Given the description of an element on the screen output the (x, y) to click on. 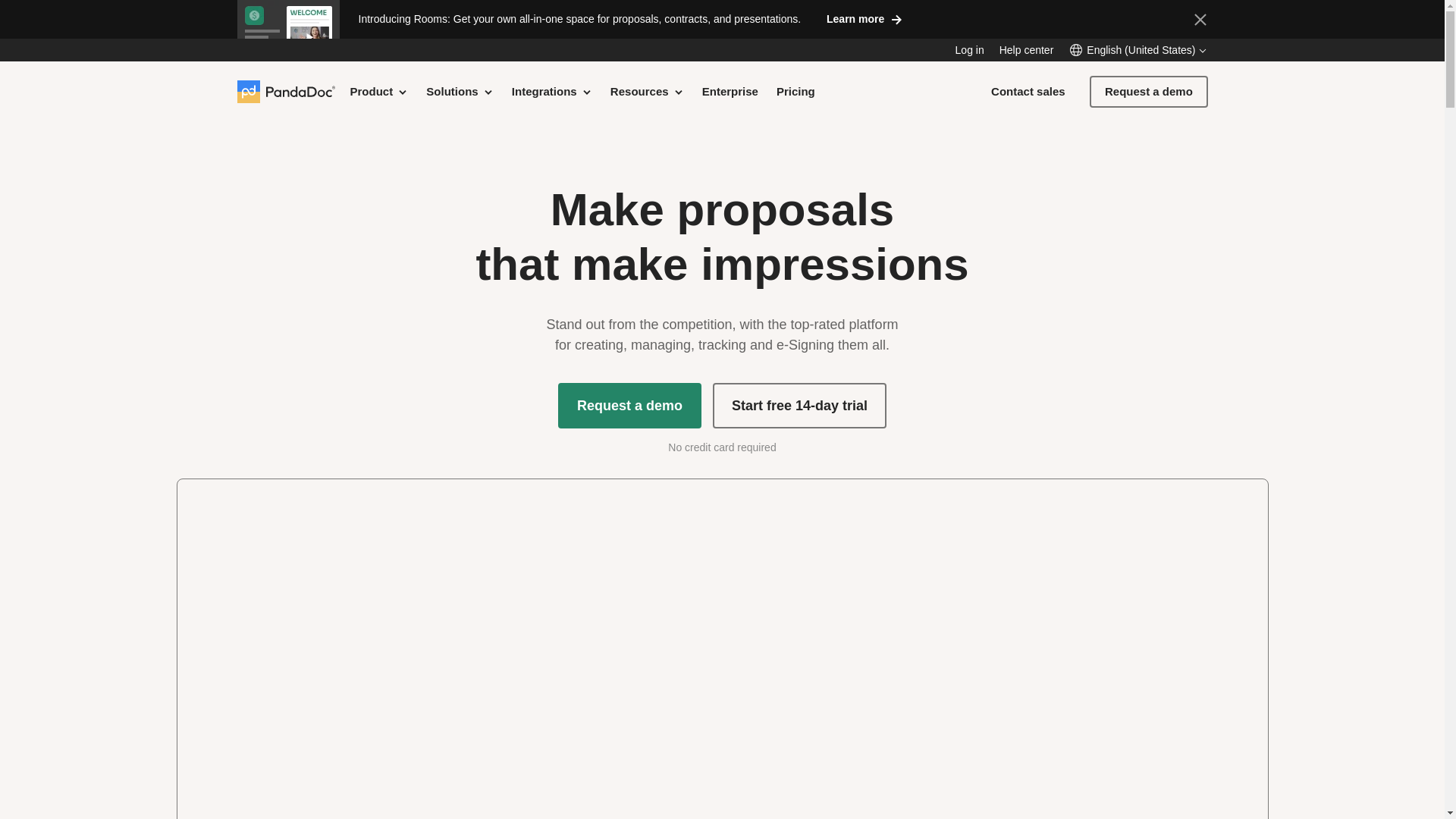
Product (379, 91)
Learn more (864, 18)
Log in (969, 50)
Help center (1026, 50)
Solutions (459, 91)
